Given the description of an element on the screen output the (x, y) to click on. 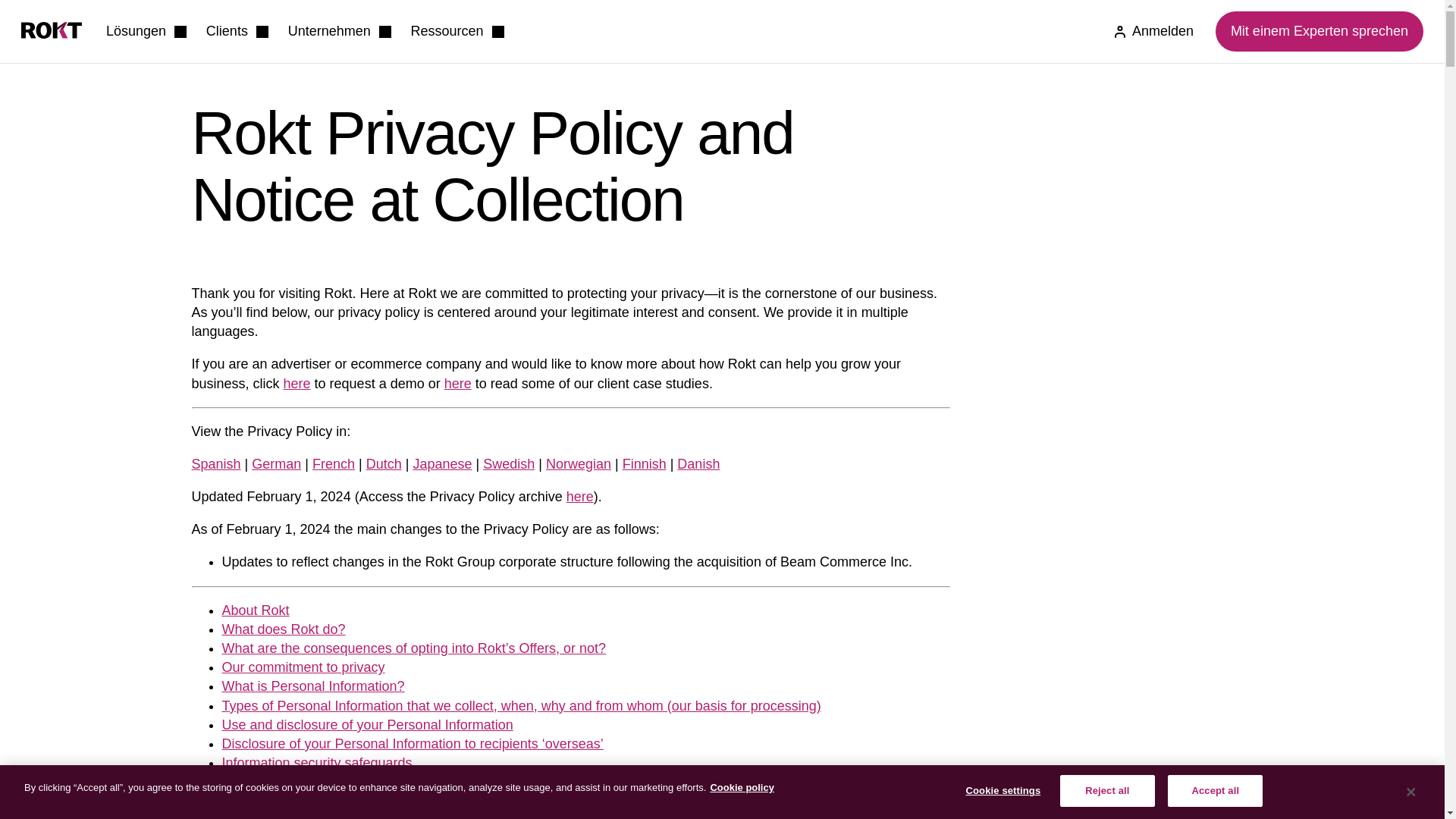
Danish (698, 463)
French (334, 463)
Unternehmen (339, 31)
Norwegian (578, 463)
Finnish (644, 463)
here (580, 496)
here (297, 383)
Clients (236, 31)
Swedish (508, 463)
Ressourcen (456, 31)
